Given the description of an element on the screen output the (x, y) to click on. 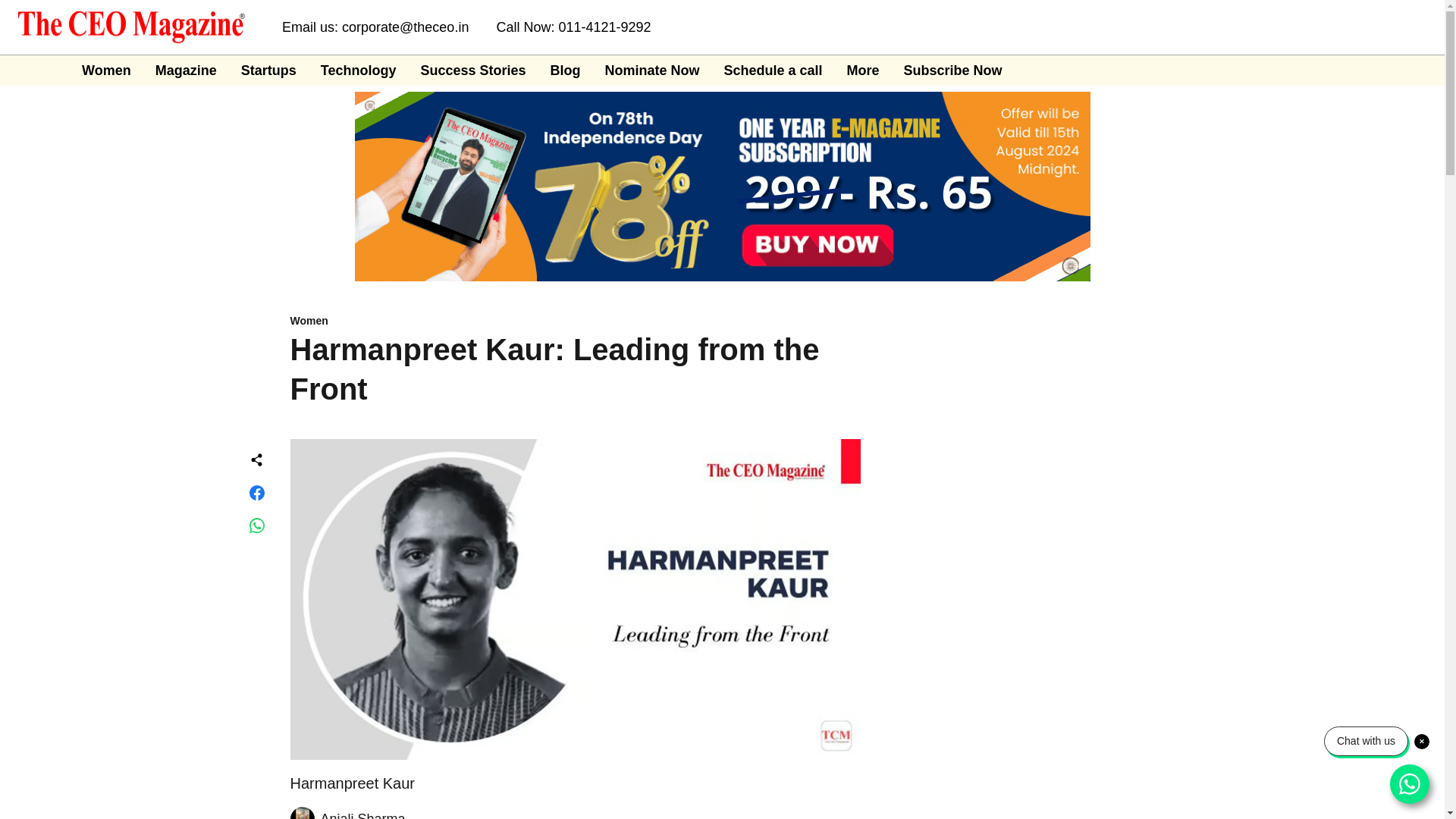
Success Stories (472, 70)
Blog (564, 70)
Advertisement (1015, 575)
3rd party ad content (1015, 780)
Women (574, 321)
Technology (358, 70)
Startups (269, 70)
Dark Mode (1415, 70)
Women (106, 70)
Subscribe Now (953, 70)
